Given the description of an element on the screen output the (x, y) to click on. 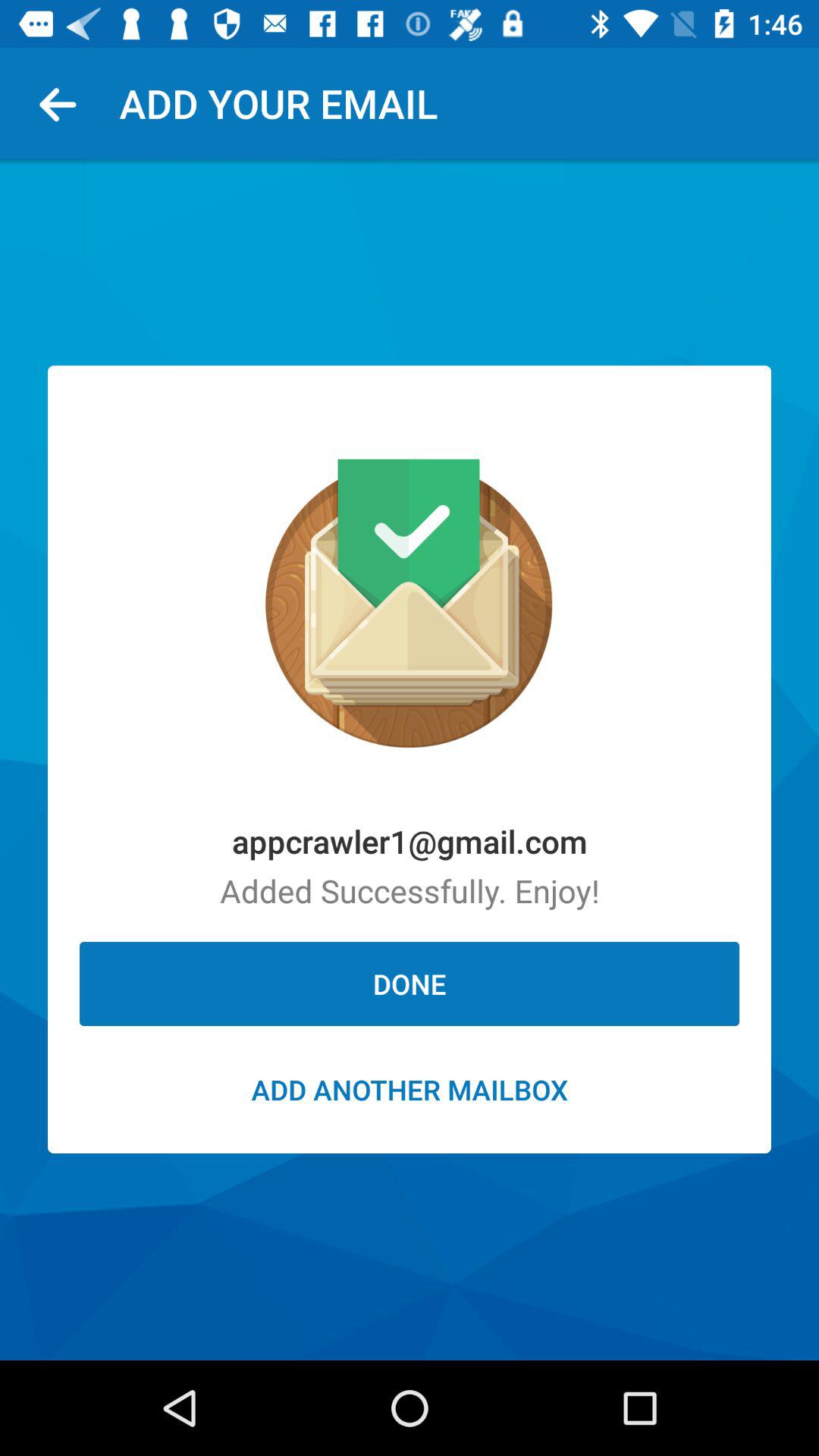
scroll until done icon (409, 983)
